Given the description of an element on the screen output the (x, y) to click on. 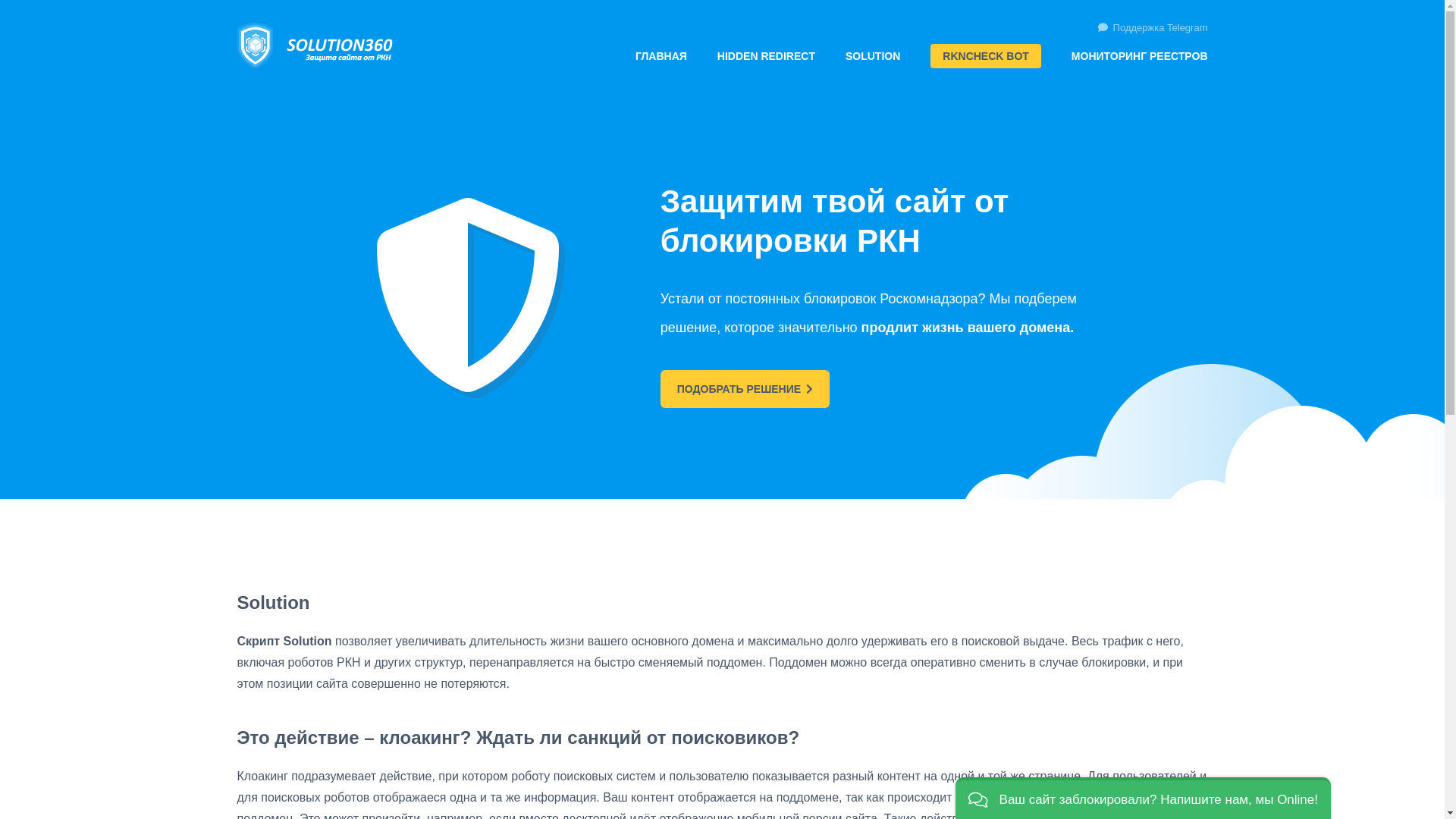
SOLUTION Element type: text (872, 55)
RKNCHECK BOT Element type: text (985, 55)
HIDDEN REDIRECT Element type: text (766, 55)
